Given the description of an element on the screen output the (x, y) to click on. 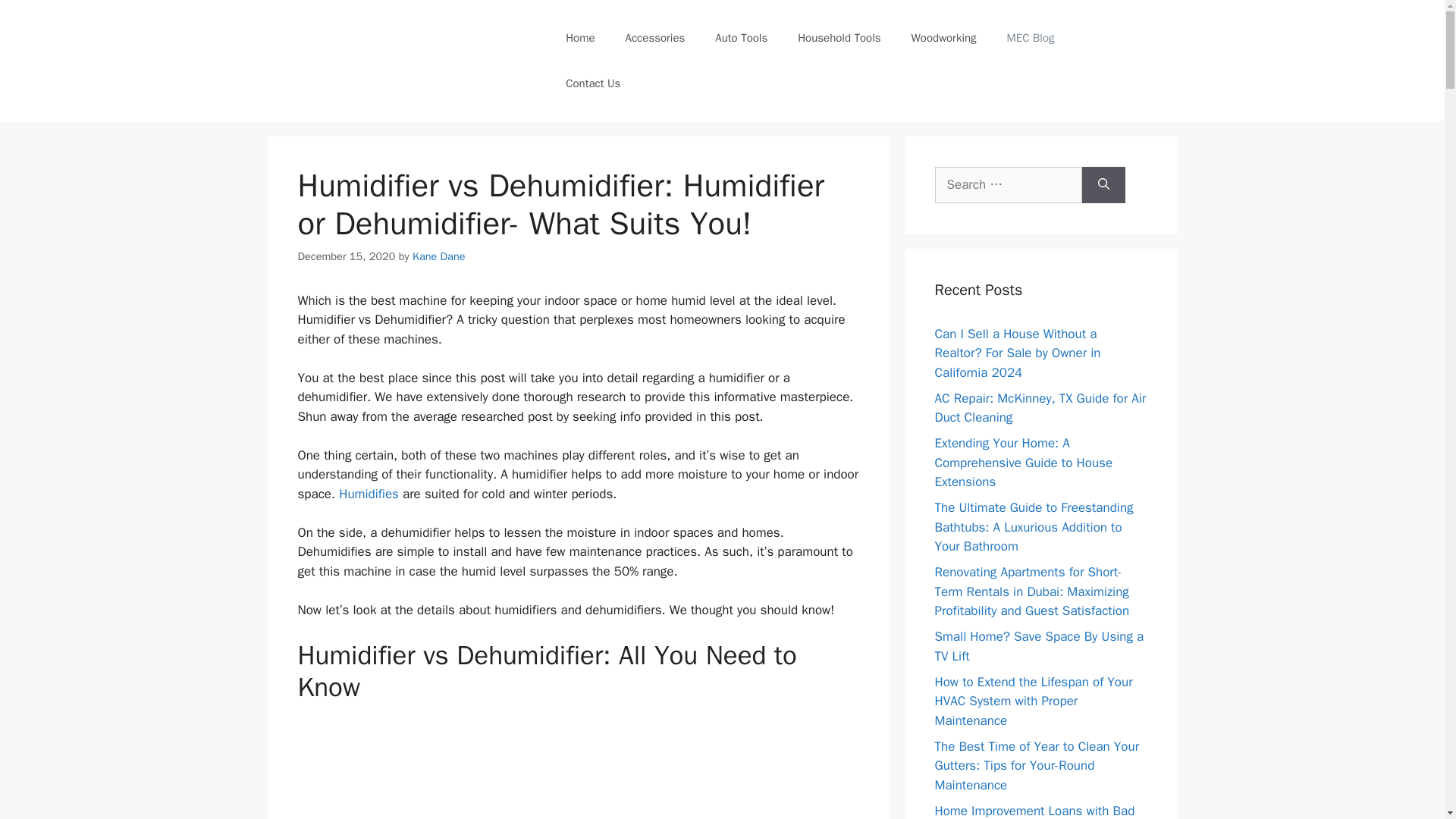
MEC Blog (1030, 37)
View all posts by Kane Dane (438, 255)
Humidifies (371, 494)
Woodworking (943, 37)
Accessories (655, 37)
Contact Us (592, 83)
Small Home? Save Space By Using a TV Lift (1038, 646)
Home (580, 37)
